Given the description of an element on the screen output the (x, y) to click on. 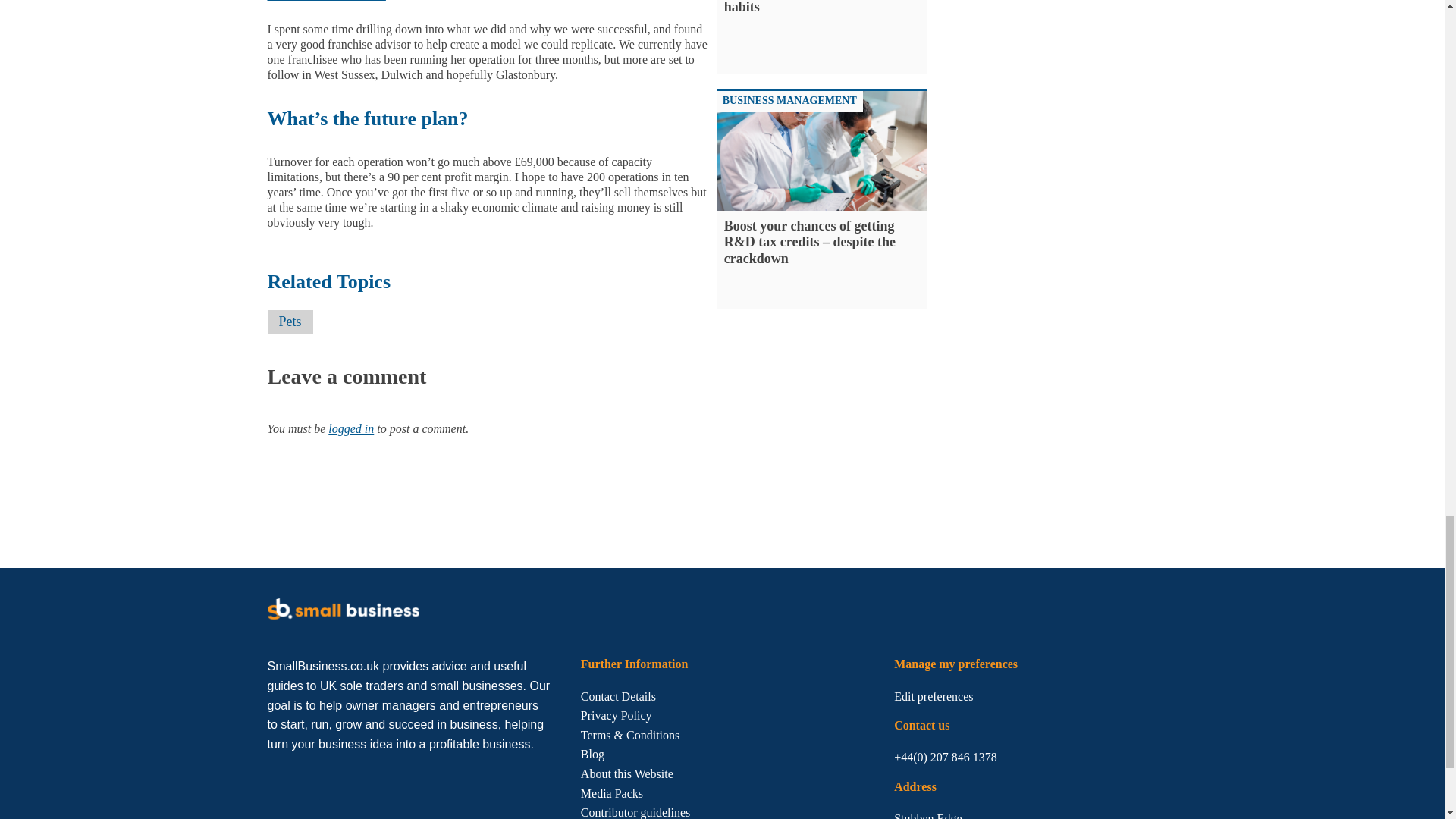
3rd party ad content (542, 503)
3rd party ad content (1062, 55)
